Given the description of an element on the screen output the (x, y) to click on. 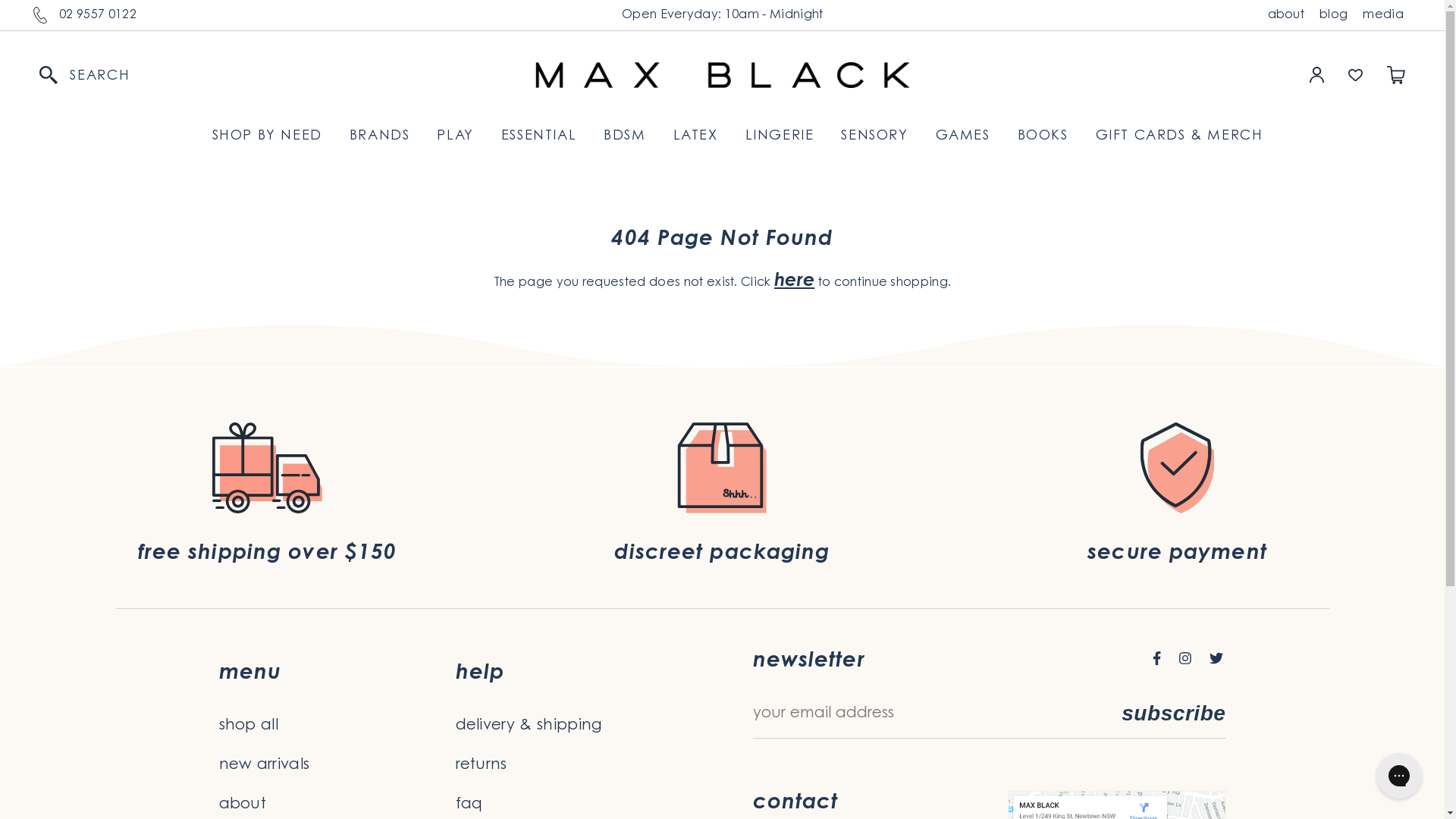
LINGERIE Element type: text (779, 136)
ESSENTIAL Element type: text (538, 136)
BDSM Element type: text (624, 136)
here Element type: text (794, 280)
media Element type: text (1383, 15)
GIFT CARDS & MERCH Element type: text (1179, 136)
new arrivals Element type: text (336, 764)
returns Element type: text (573, 764)
subscribe Element type: text (1173, 713)
delivery & shipping Element type: text (573, 725)
LATEX Element type: text (695, 136)
shop all Element type: text (336, 725)
Gorgias live chat messenger Element type: hover (1398, 775)
PLAY Element type: text (454, 136)
02 9557 0122 Element type: text (97, 15)
GAMES Element type: text (962, 136)
BRANDS Element type: text (379, 136)
SENSORY Element type: text (873, 136)
blog Element type: text (1333, 15)
about Element type: text (1286, 15)
BOOKS Element type: text (1042, 136)
SHOP BY NEED Element type: text (267, 136)
